Given the description of an element on the screen output the (x, y) to click on. 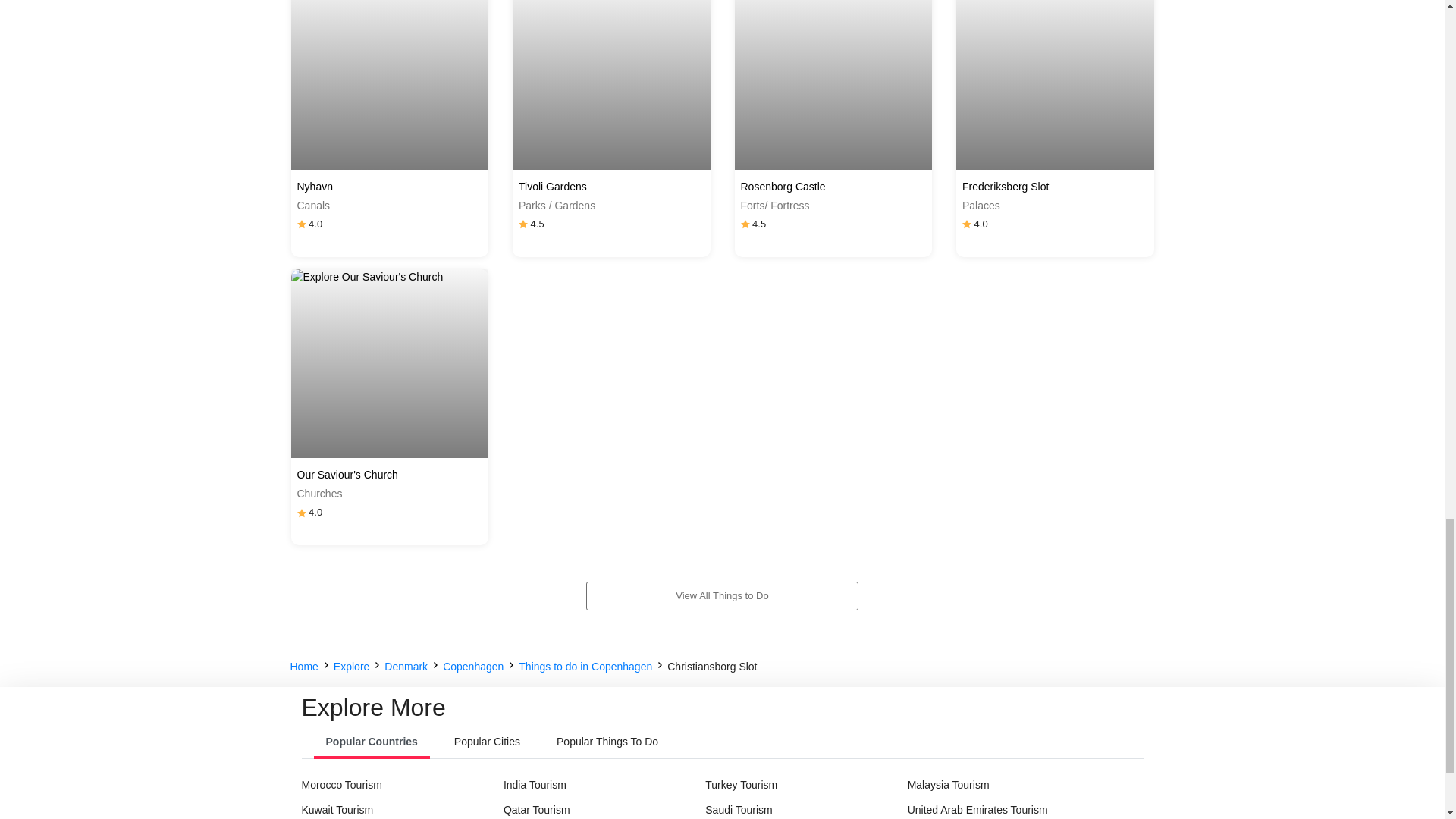
Nyhavn (390, 186)
Things to do in Copenhagen (585, 666)
Tivoli Gardens (611, 186)
Rosenborg Castle (832, 186)
Explore Our Saviour's Church  (367, 277)
View All Things to Do (722, 595)
Frederiksberg Slot (1055, 186)
Our Saviour's Church (390, 474)
Denmark (406, 666)
Copenhagen (472, 666)
